Given the description of an element on the screen output the (x, y) to click on. 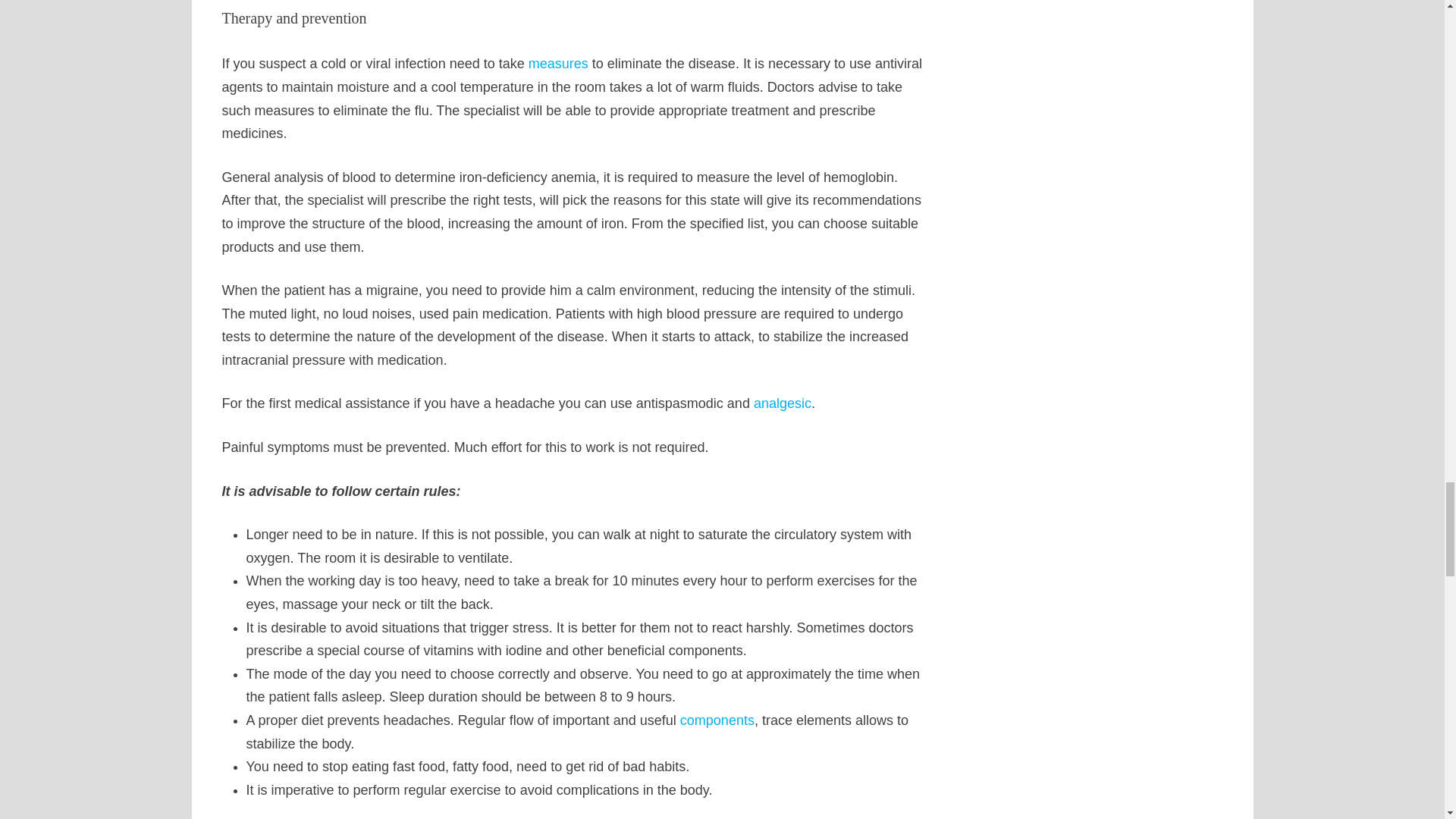
components (716, 720)
analgesic (782, 403)
measures (558, 63)
